Given the description of an element on the screen output the (x, y) to click on. 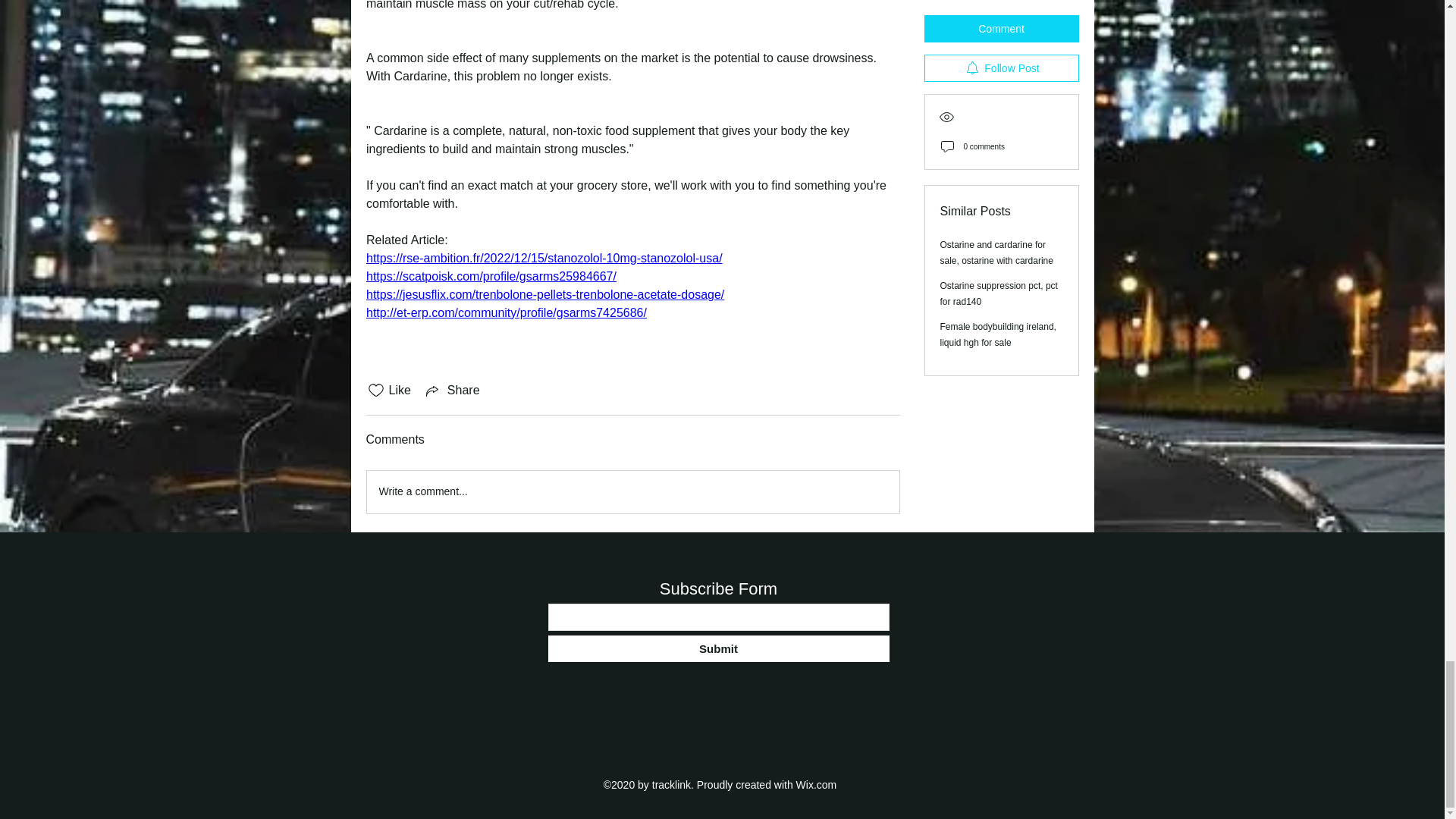
Write a comment... (632, 491)
Submit (717, 648)
Share (451, 390)
